Given the description of an element on the screen output the (x, y) to click on. 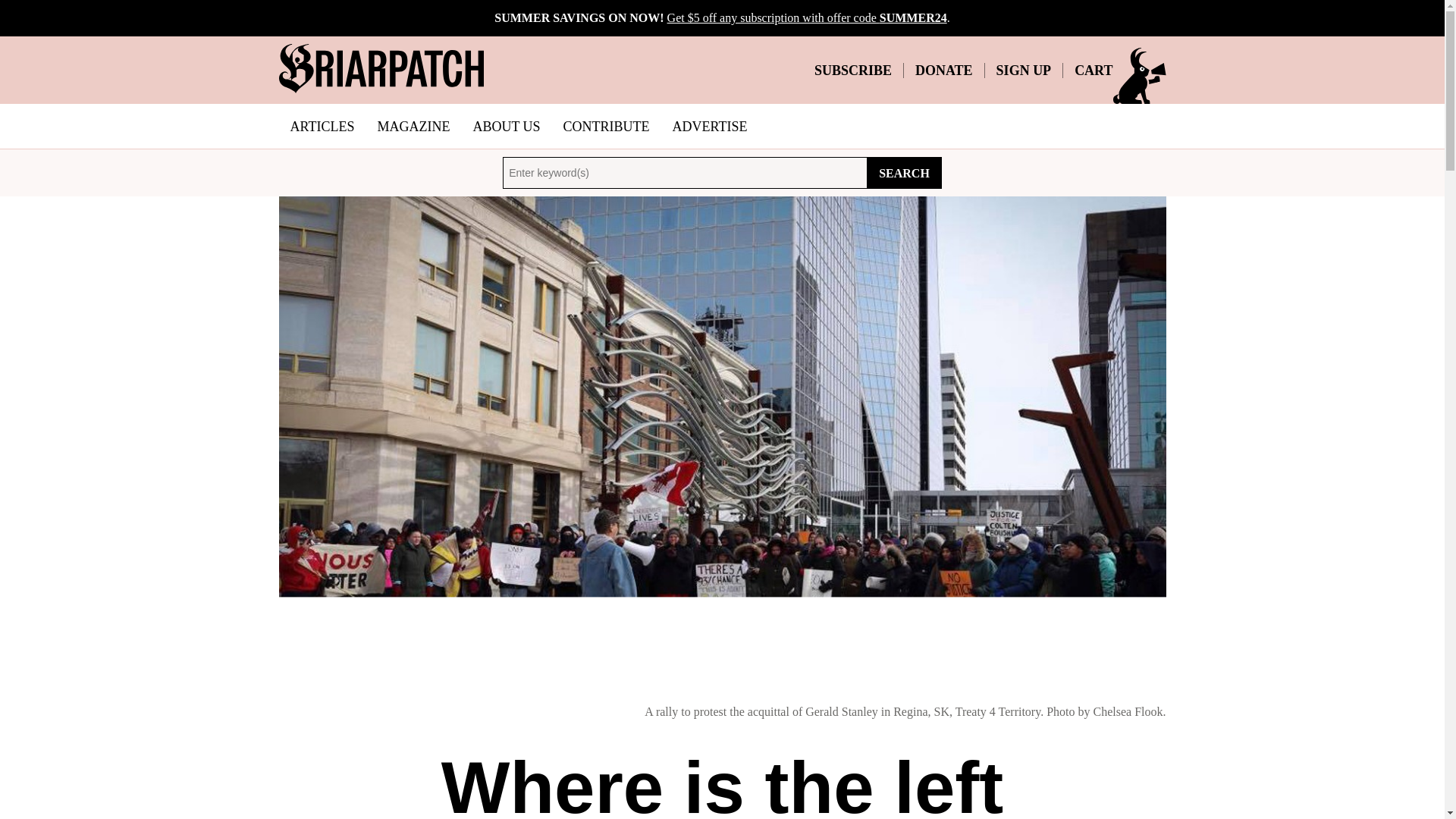
ABOUT US (506, 126)
SIGN UP (1023, 69)
CART (1093, 69)
DONATE (943, 69)
MAGAZINE (413, 126)
CONTRIBUTE (606, 126)
SEARCH (904, 173)
ARTICLES (322, 126)
SUBSCRIBE (852, 69)
ADVERTISE (709, 126)
